Given the description of an element on the screen output the (x, y) to click on. 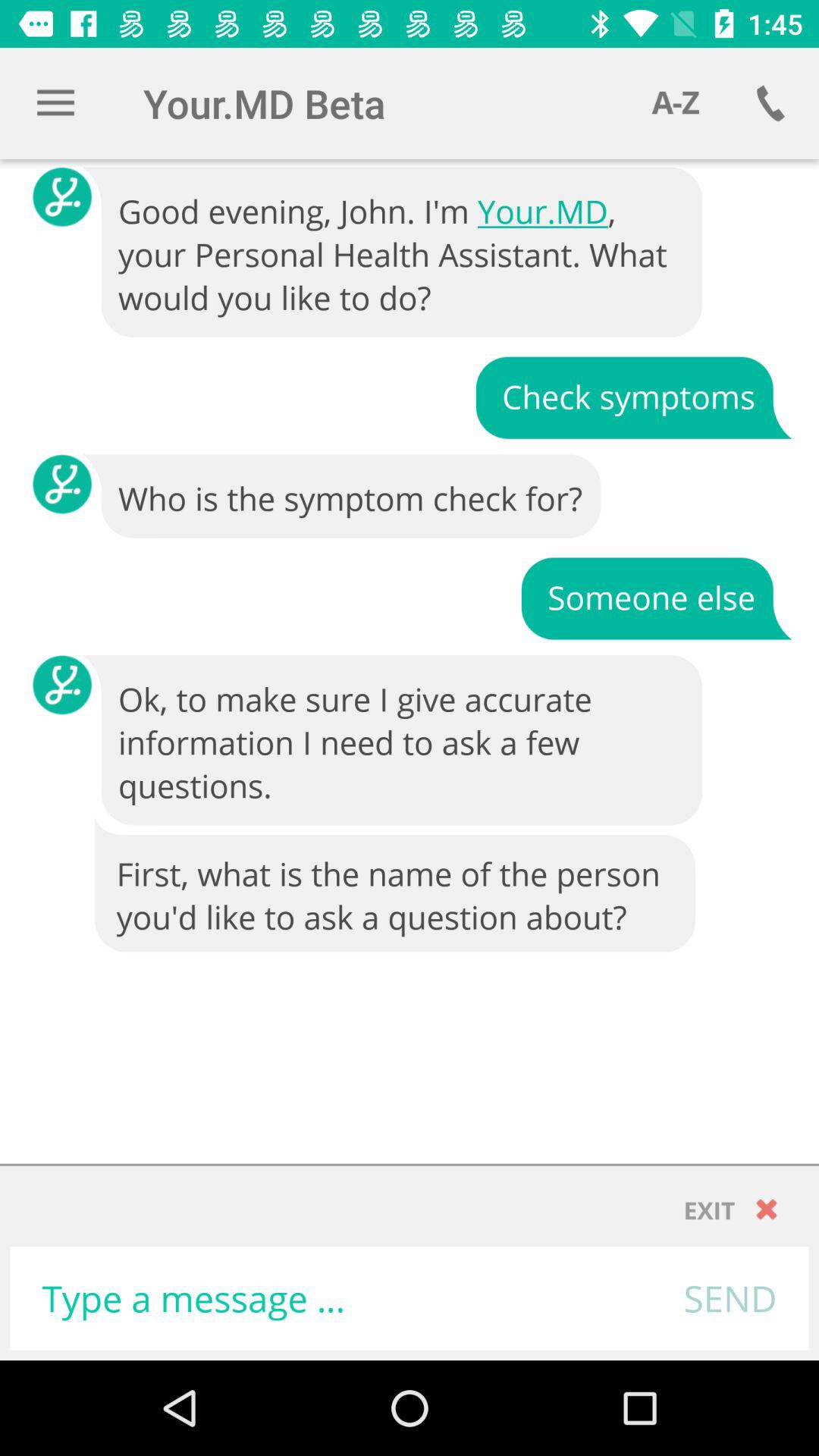
open the someone else icon (656, 597)
